Given the description of an element on the screen output the (x, y) to click on. 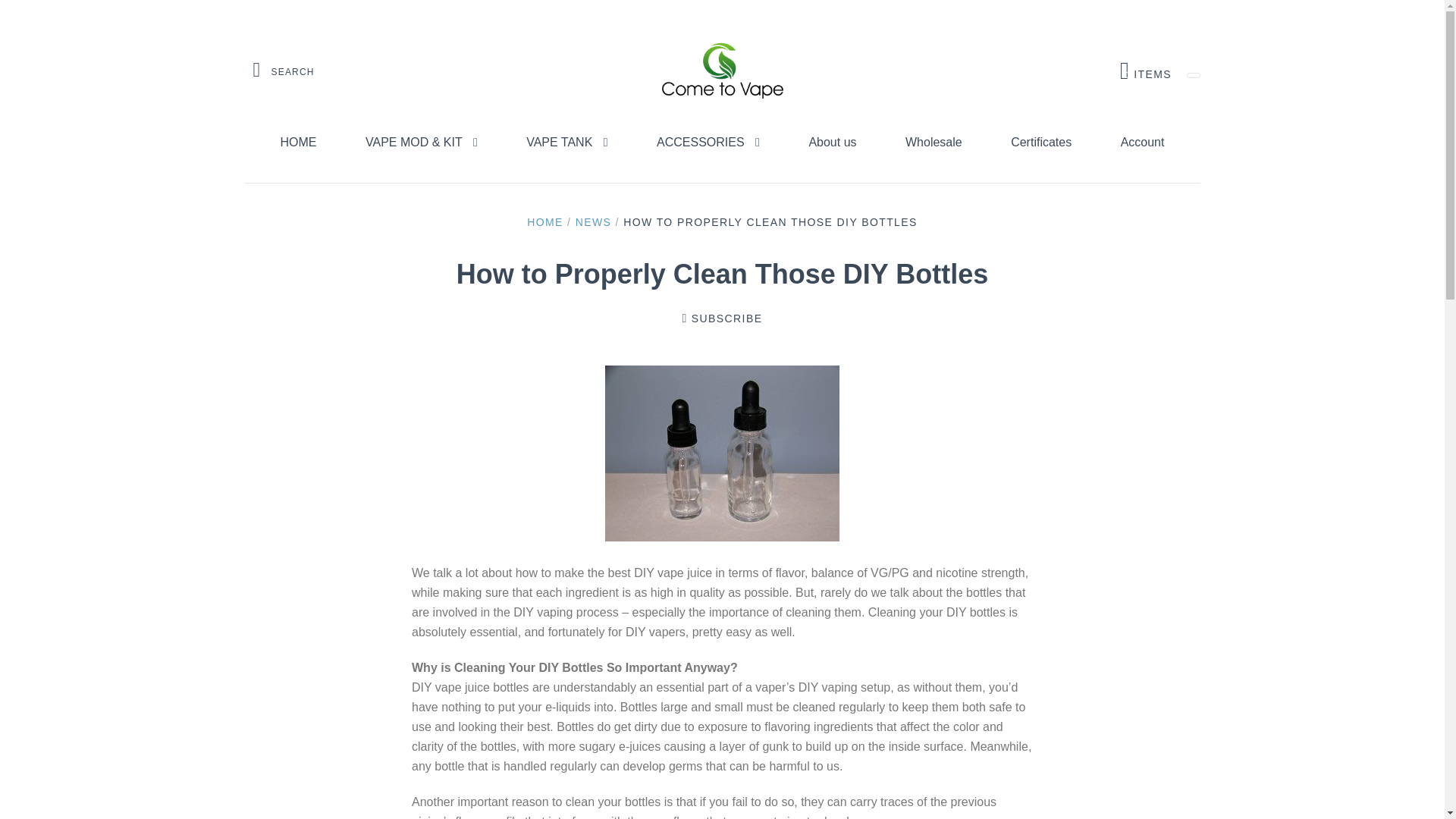
VAPE TANK (566, 142)
ACCESSORIES (708, 142)
HOME (298, 142)
